Given the description of an element on the screen output the (x, y) to click on. 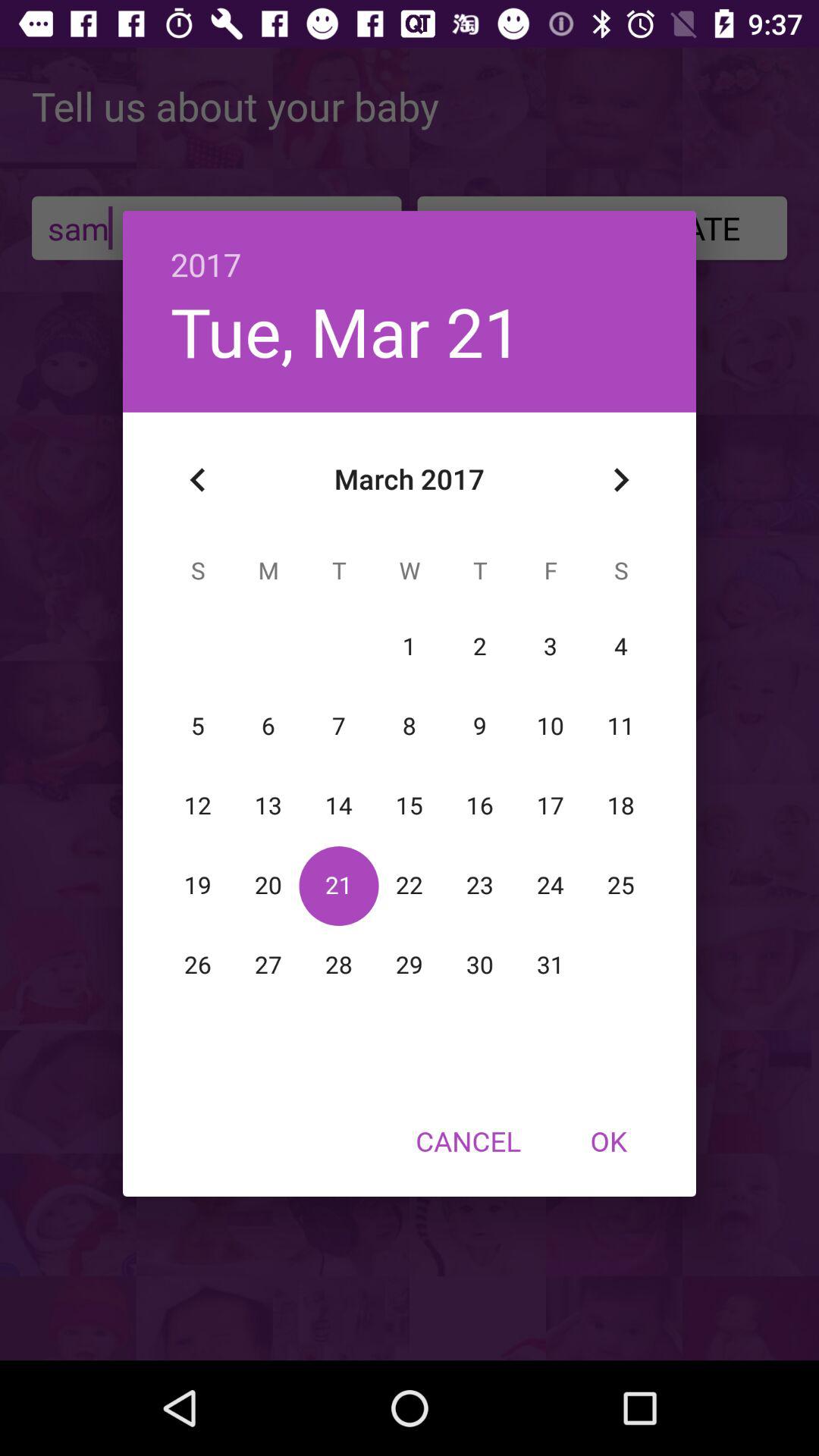
press item at the top left corner (197, 479)
